Given the description of an element on the screen output the (x, y) to click on. 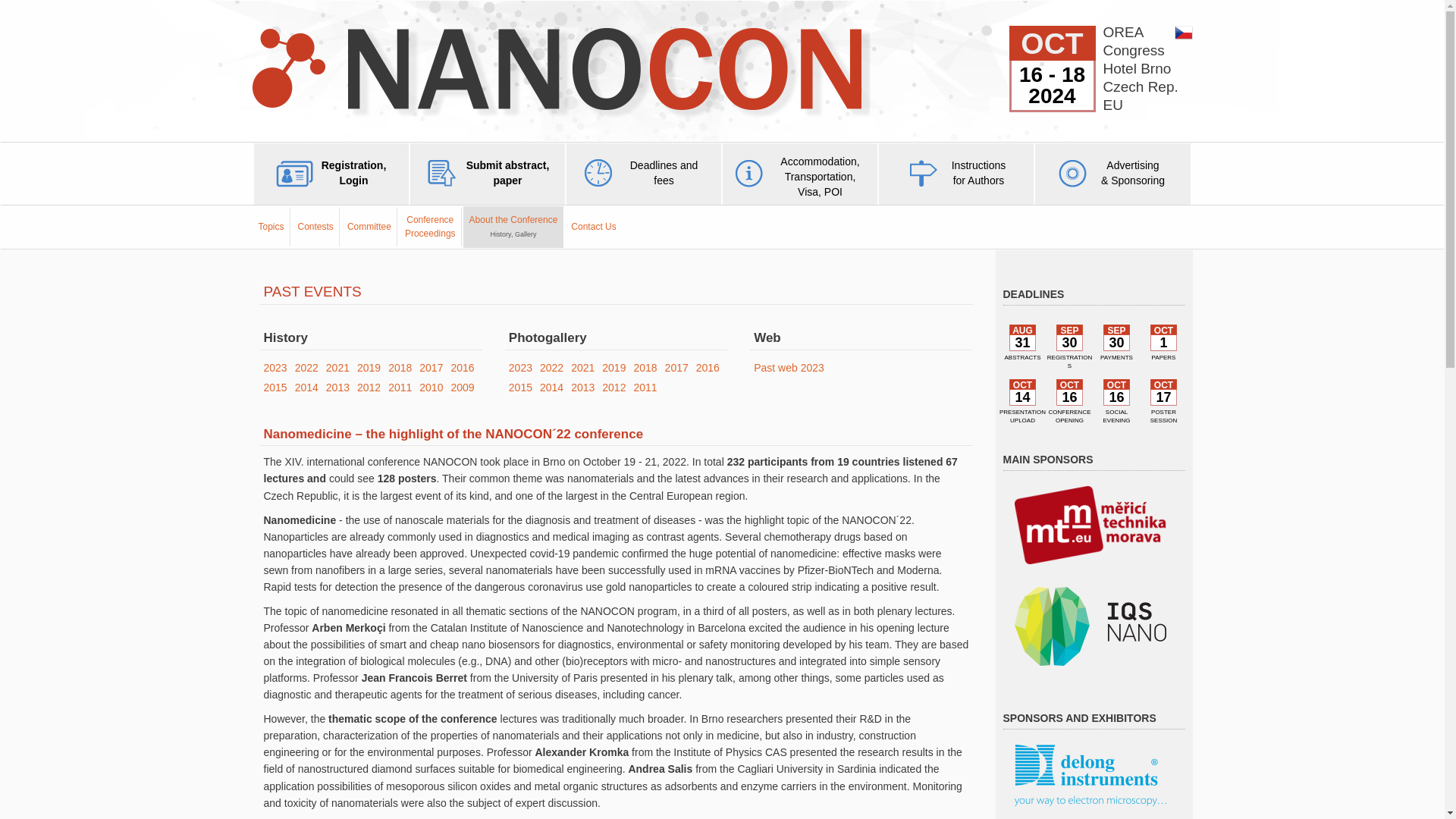
2013 (337, 387)
2022 (551, 367)
2019 (368, 367)
2011 (400, 387)
2014 (513, 227)
2021 (306, 387)
2012 (582, 367)
2016 (368, 387)
2019 (707, 367)
